Given the description of an element on the screen output the (x, y) to click on. 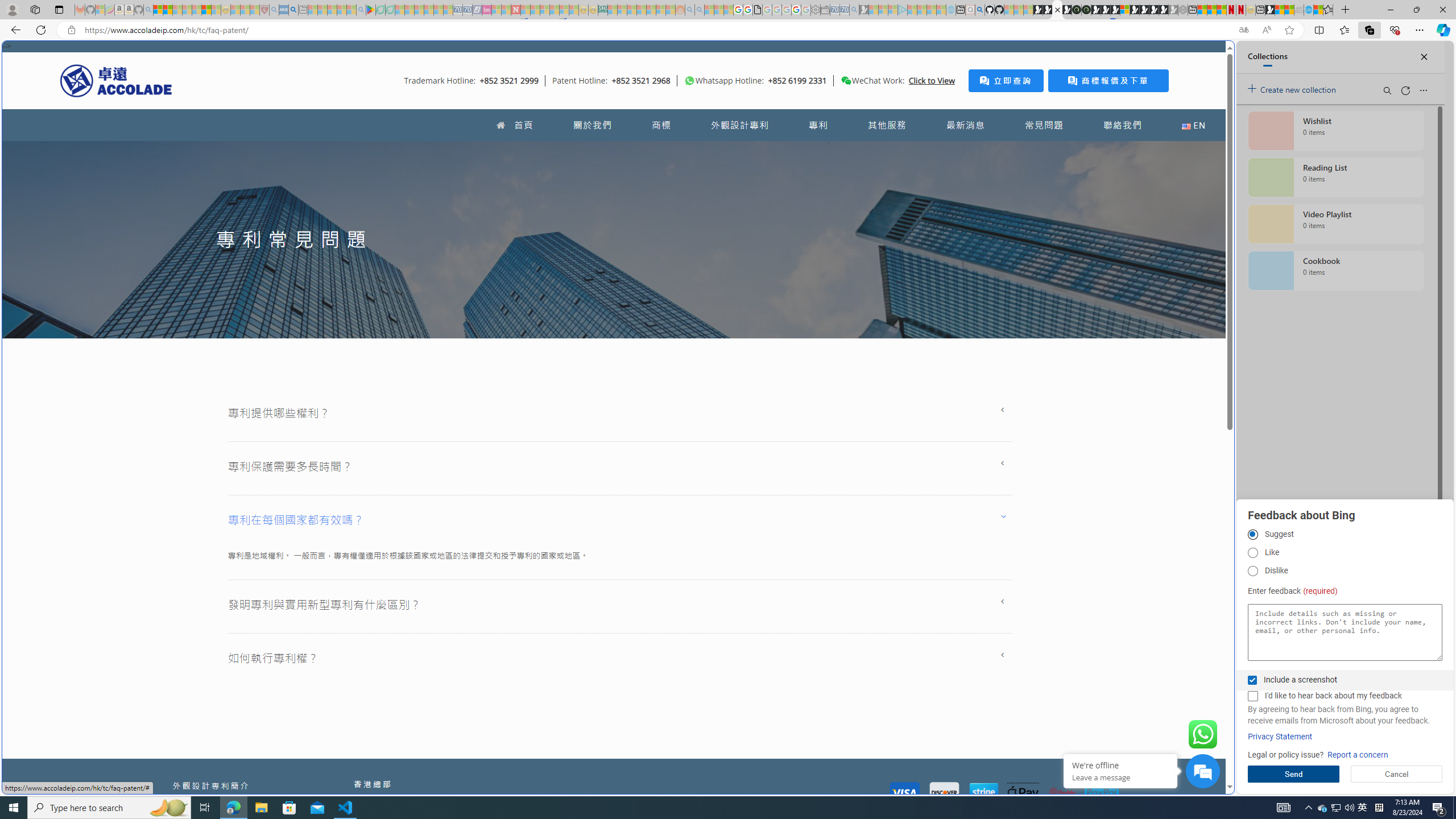
Accolade IP HK Logo (116, 80)
Settings - Sleeping (815, 9)
Report a concern (1358, 755)
